Given the description of an element on the screen output the (x, y) to click on. 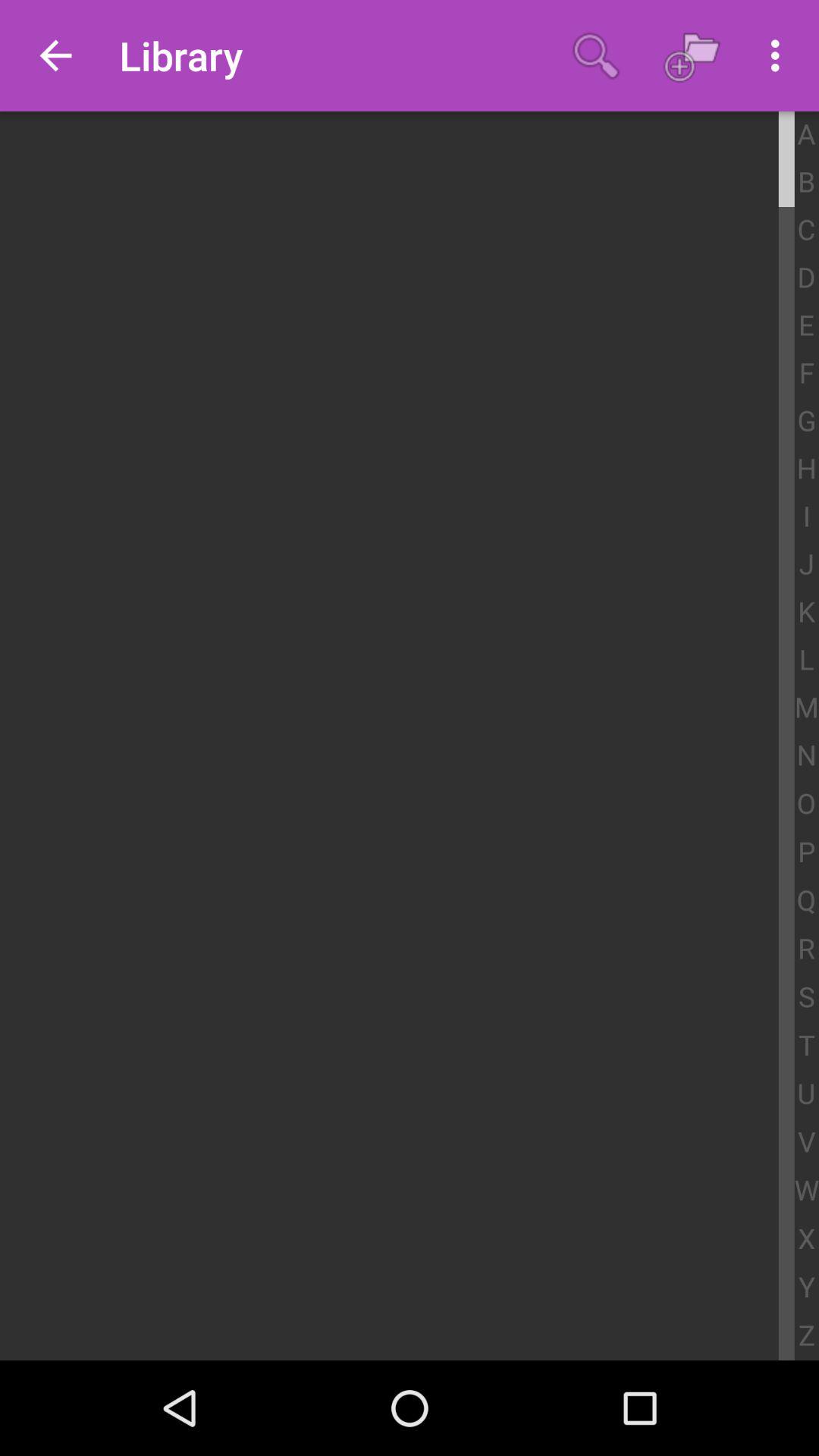
swipe until z (806, 1336)
